Given the description of an element on the screen output the (x, y) to click on. 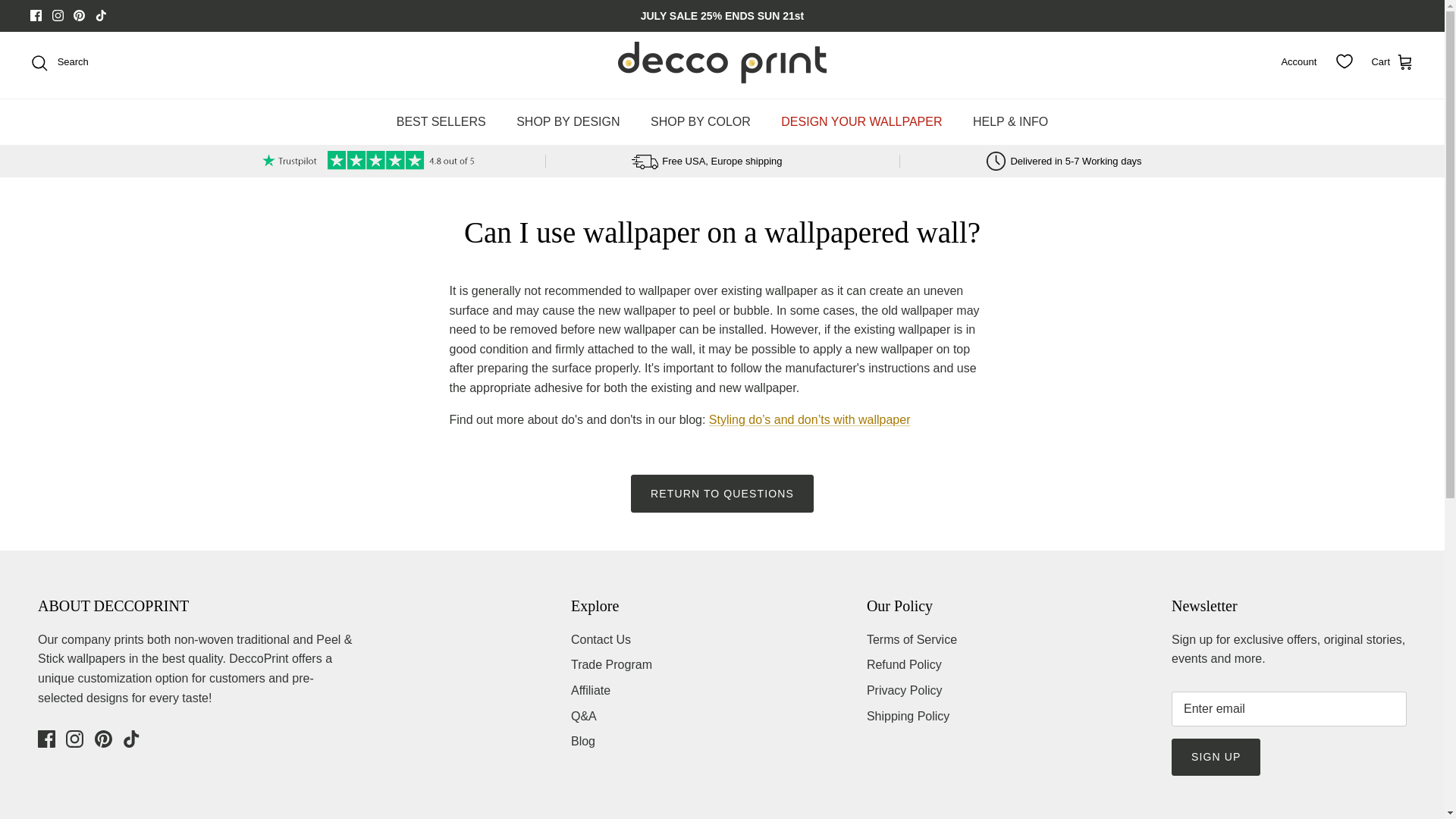
Facebook (36, 15)
SHOP BY DESIGN (567, 121)
Facebook (36, 15)
Instagram (73, 738)
Facebook (46, 738)
Instagram (58, 15)
View Wishlist (1345, 60)
Search (59, 62)
Pinterest (79, 15)
Pinterest (79, 15)
DeccoPrint (722, 62)
Cart (1392, 62)
BEST SELLERS (440, 121)
Pinterest (103, 738)
Account (1298, 62)
